Given the description of an element on the screen output the (x, y) to click on. 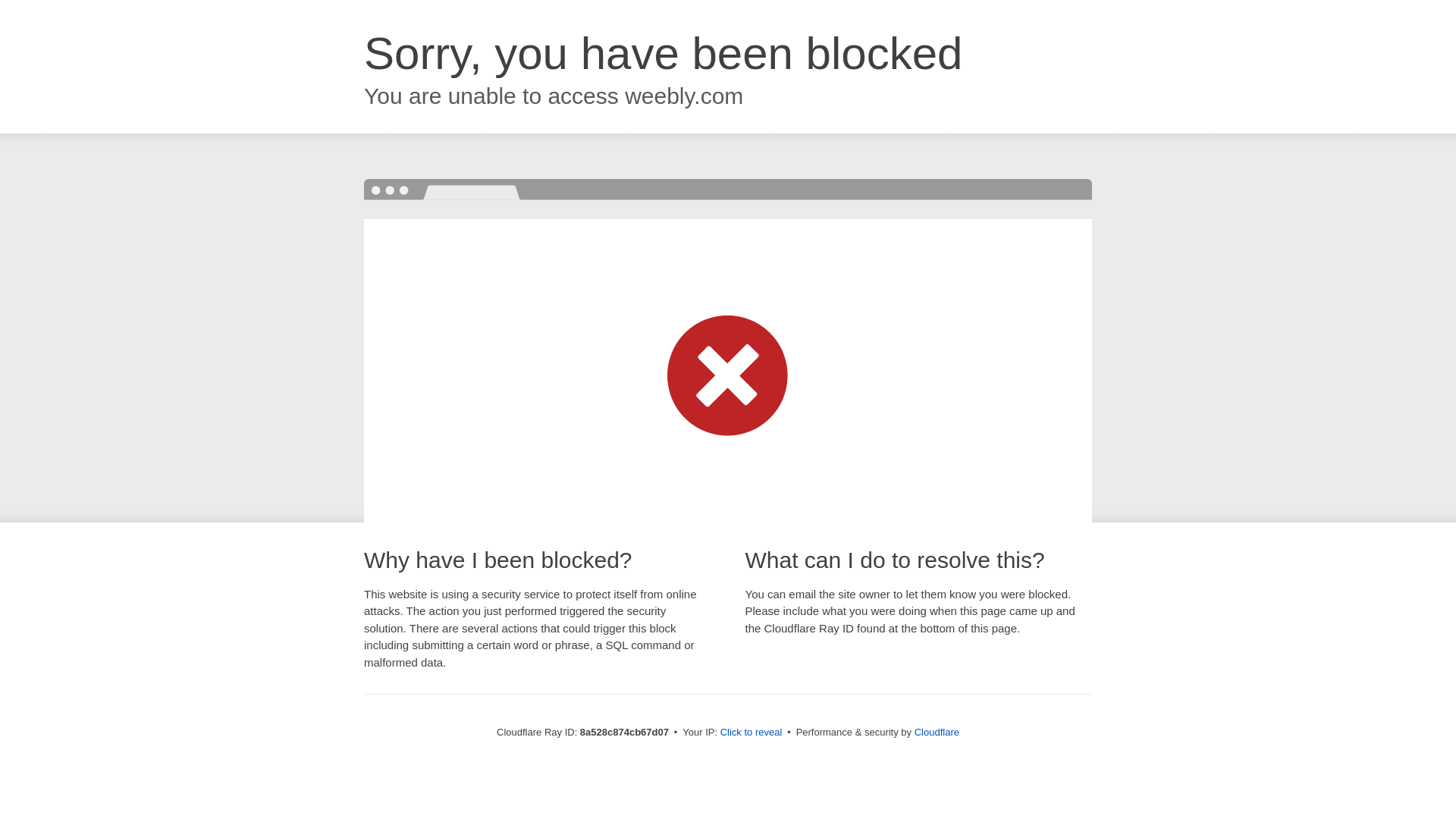
Cloudflare (936, 731)
Click to reveal (751, 732)
